Given the description of an element on the screen output the (x, y) to click on. 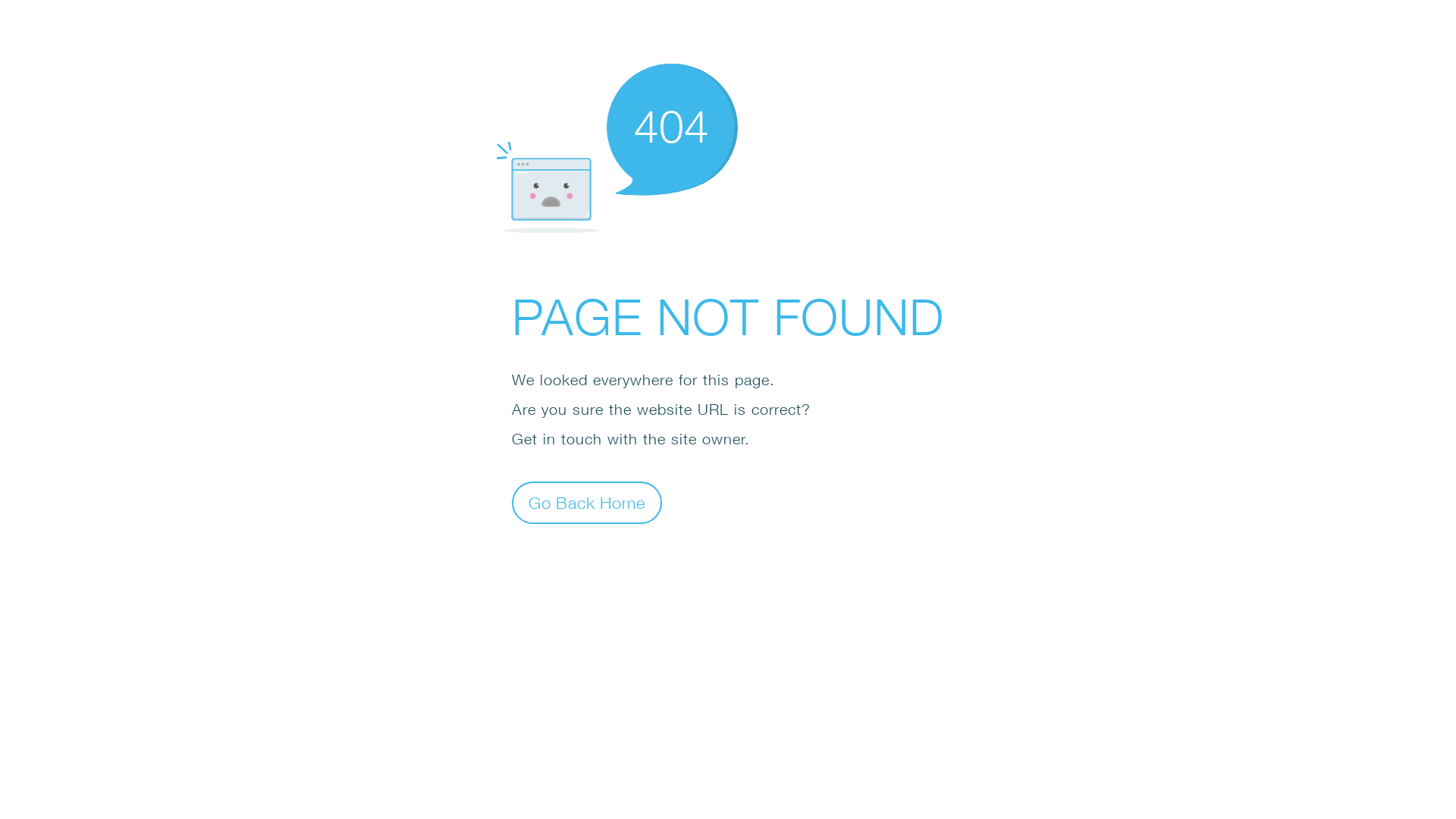
Go Back Home Element type: text (586, 502)
